Given the description of an element on the screen output the (x, y) to click on. 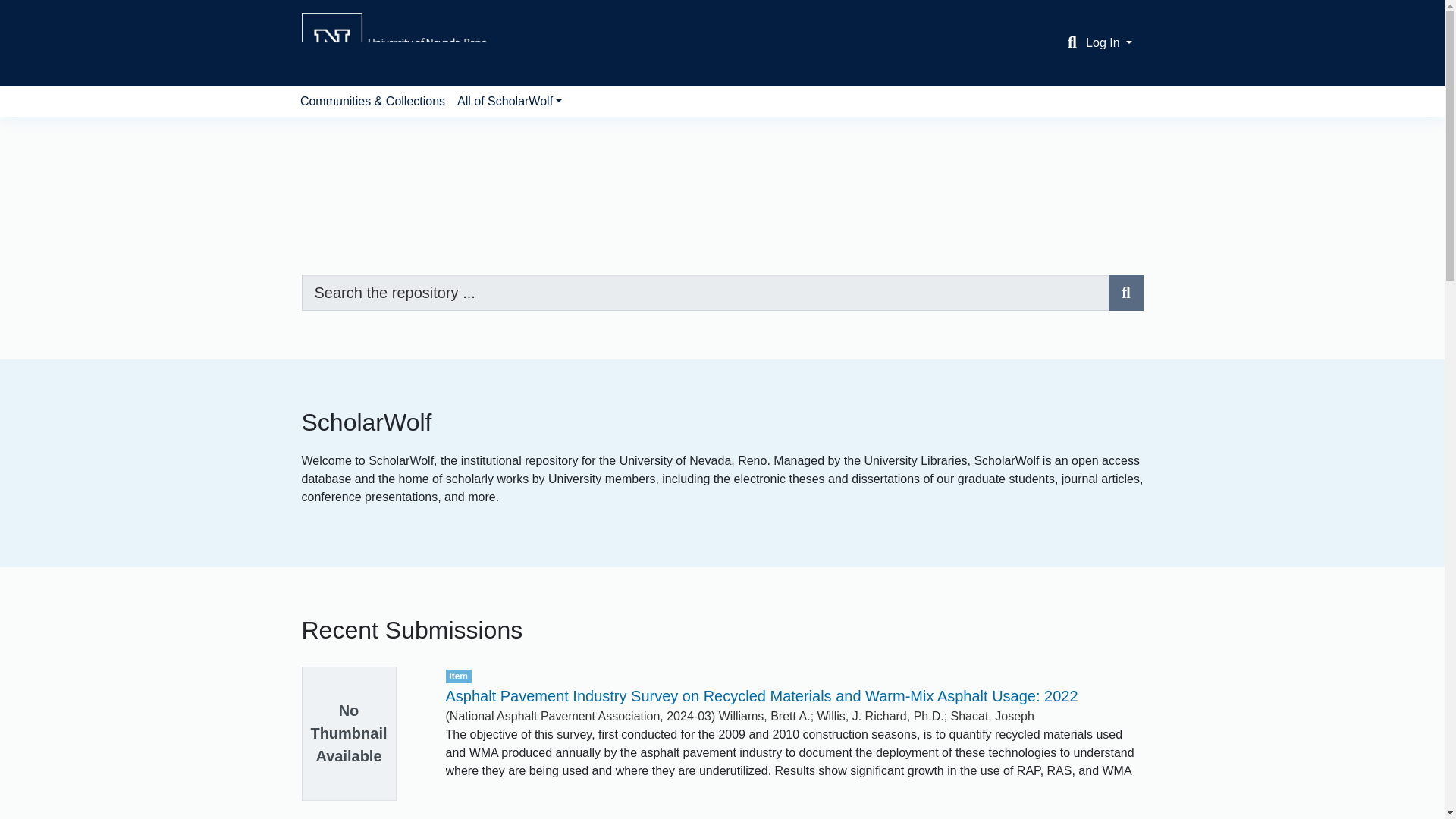
All of ScholarWolf (509, 101)
Log In (1108, 42)
Search (1125, 292)
Search (1072, 43)
